Given the description of an element on the screen output the (x, y) to click on. 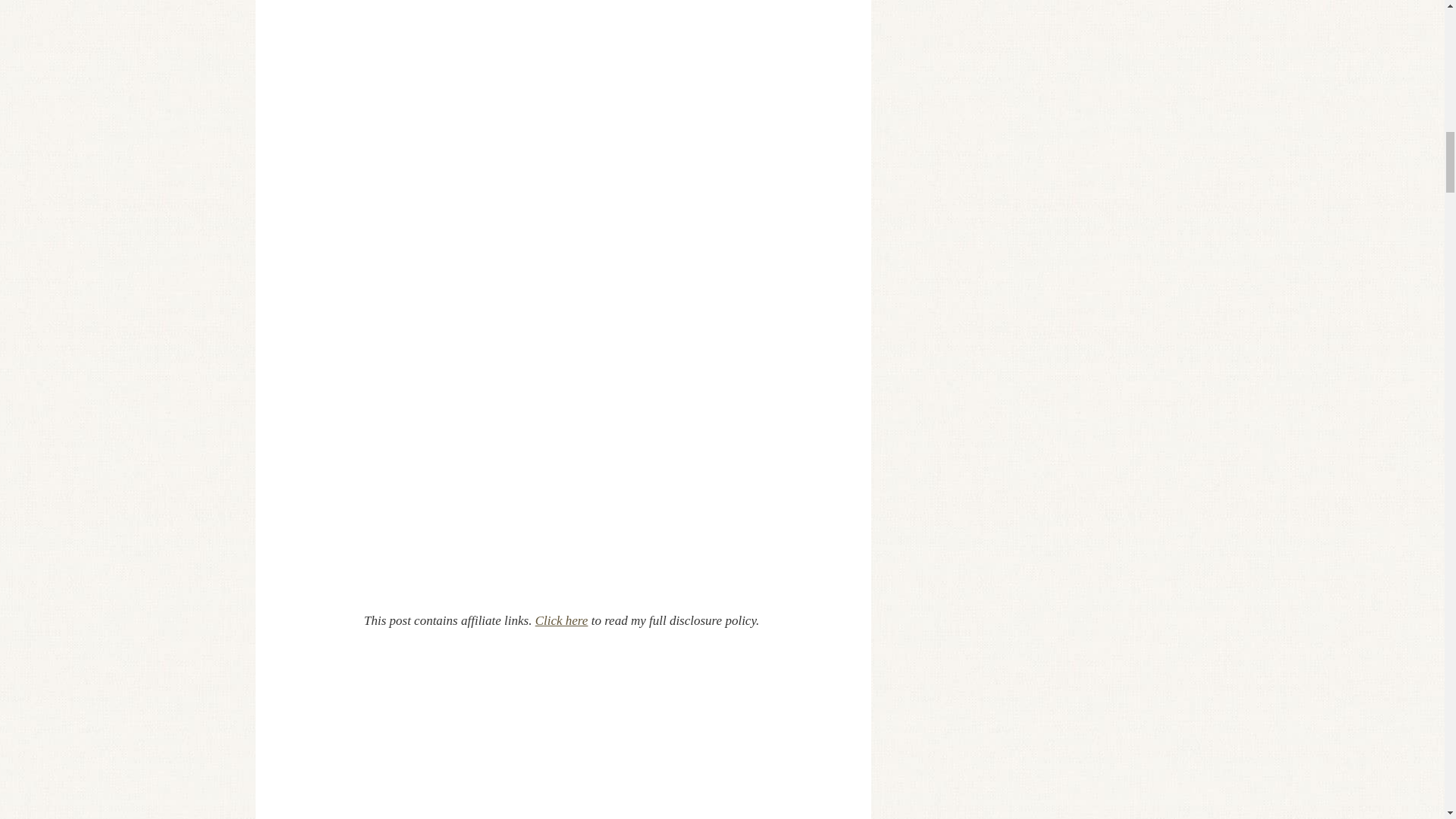
Click here (561, 620)
